Given the description of an element on the screen output the (x, y) to click on. 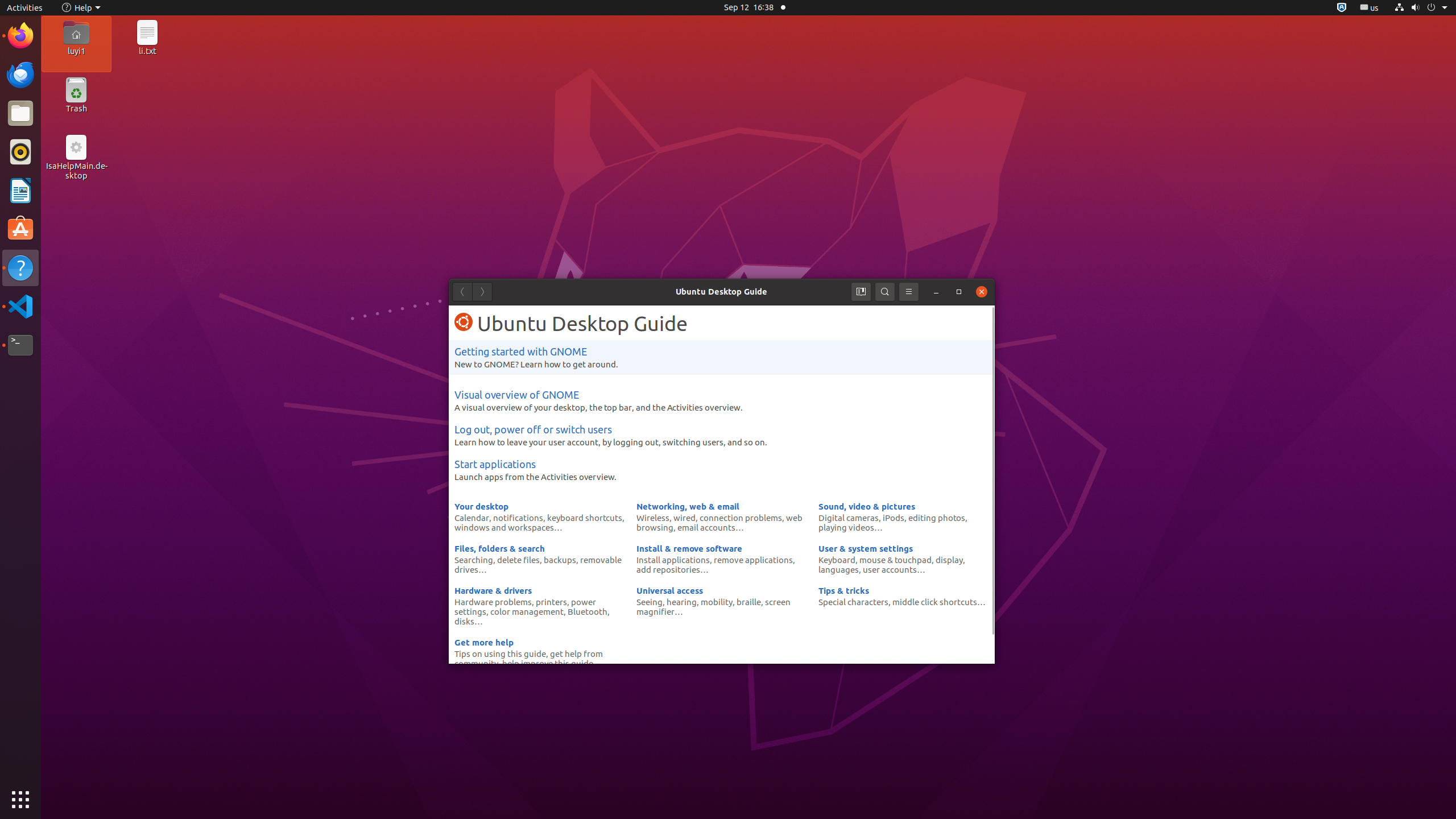
Start applications Launch apps from the Activities overview. Element type: link (721, 469)
User & system settings Element type: link (865, 548)
Keyboard Element type: link (836, 559)
Universal access Element type: link (669, 590)
Tips & tricks Element type: link (843, 590)
